Given the description of an element on the screen output the (x, y) to click on. 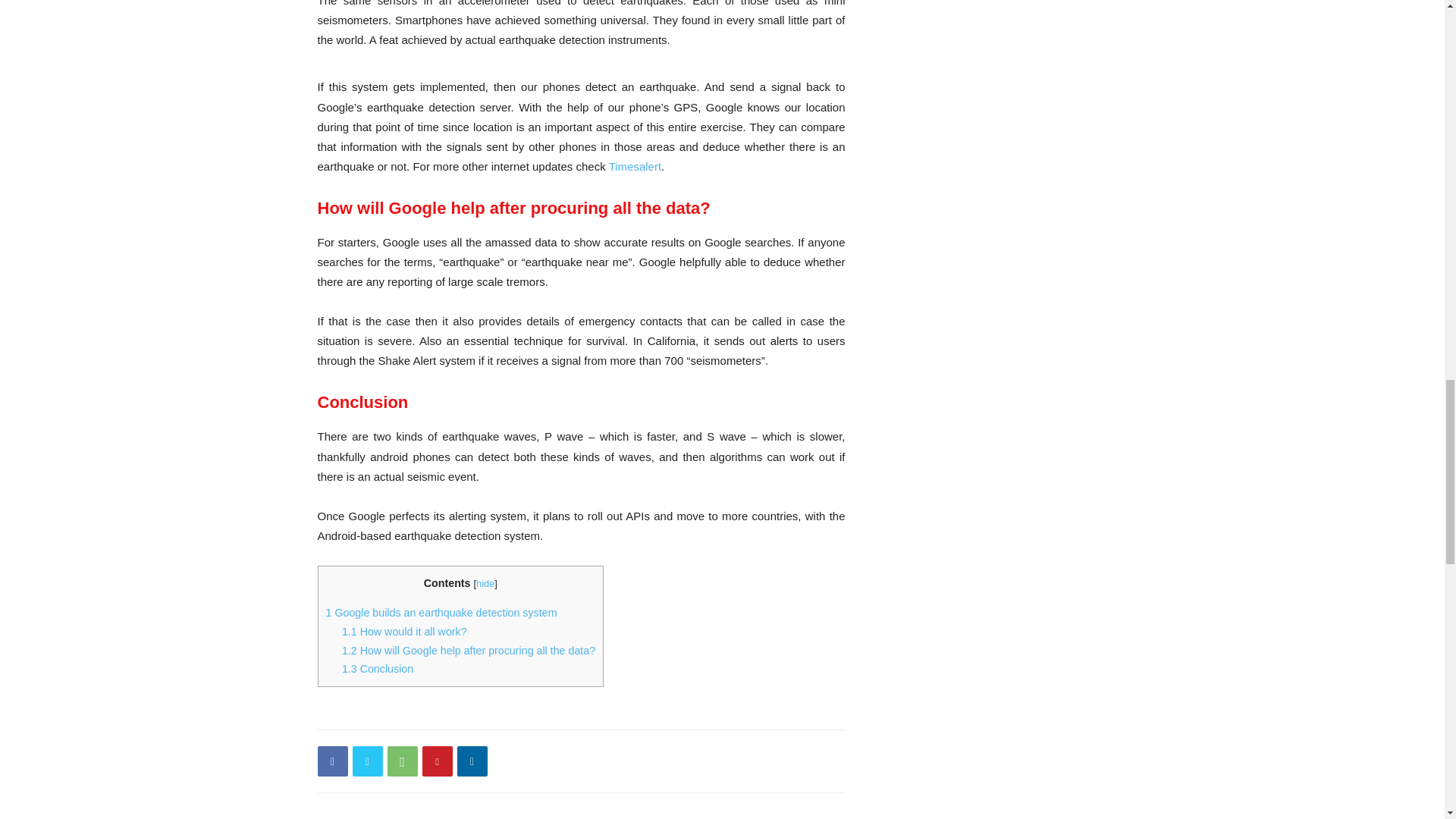
1.3 Conclusion (377, 668)
1.1 How would it all work? (404, 631)
1.2 How will Google help after procuring all the data? (468, 650)
hide (485, 583)
1 Google builds an earthquake detection system (441, 612)
Timesalert (634, 165)
